Given the description of an element on the screen output the (x, y) to click on. 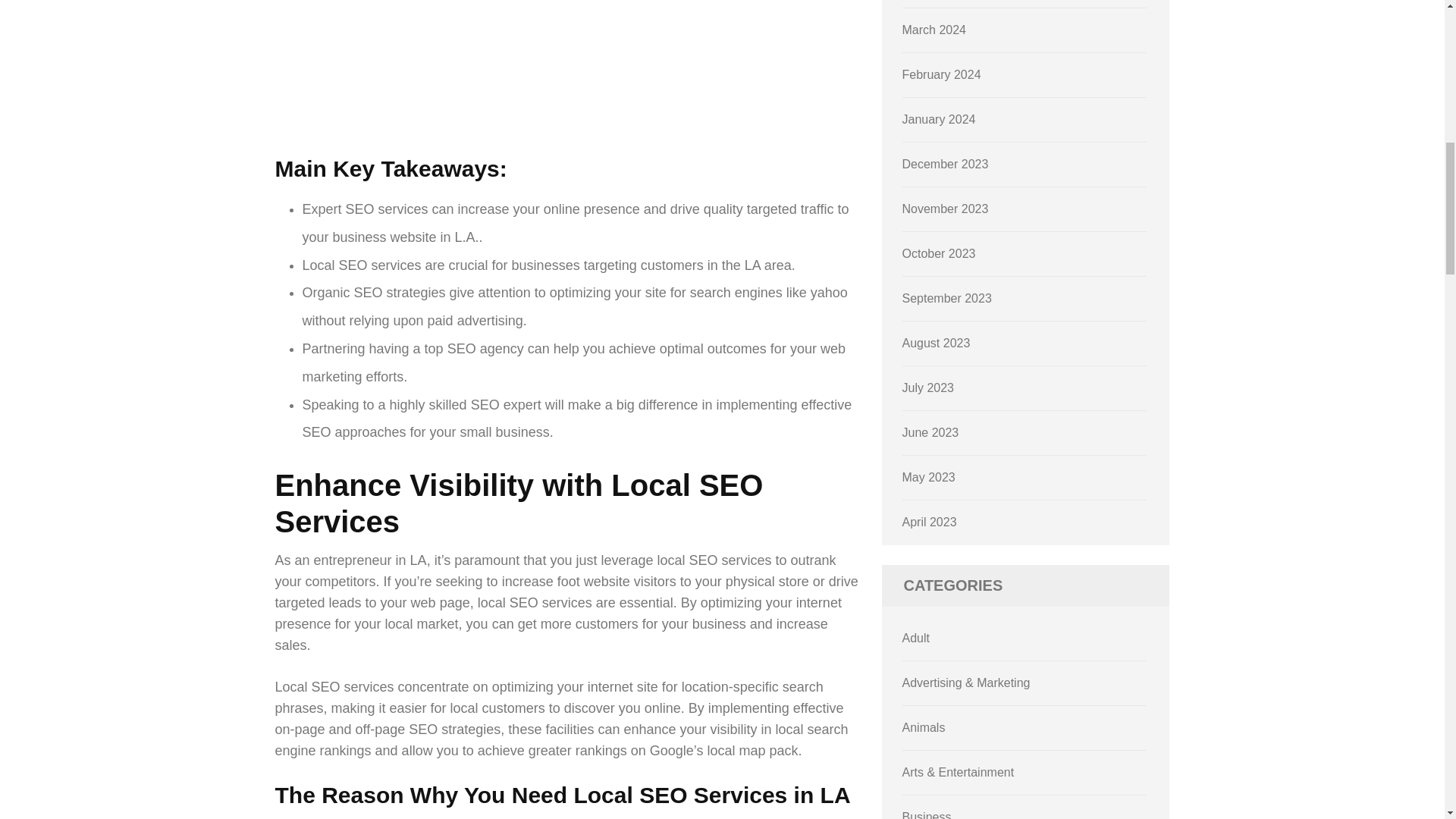
October 2023 (938, 253)
September 2023 (946, 297)
February 2024 (941, 74)
December 2023 (945, 164)
November 2023 (945, 208)
April 2023 (929, 521)
July 2023 (928, 387)
May 2023 (928, 477)
August 2023 (936, 342)
June 2023 (930, 431)
March 2024 (934, 29)
January 2024 (938, 119)
Adult (916, 637)
Animals (923, 727)
